Given the description of an element on the screen output the (x, y) to click on. 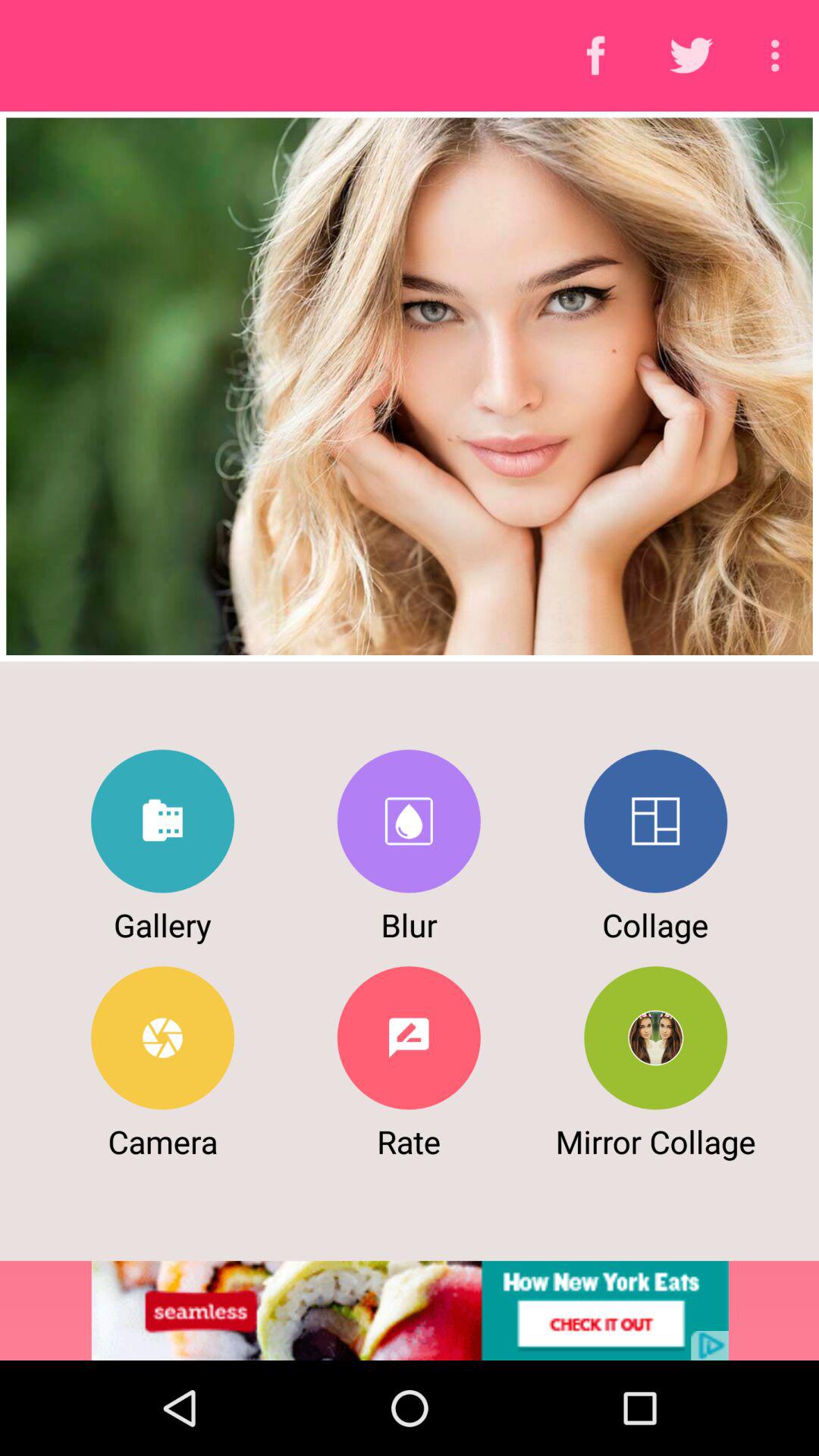
collage (655, 820)
